Given the description of an element on the screen output the (x, y) to click on. 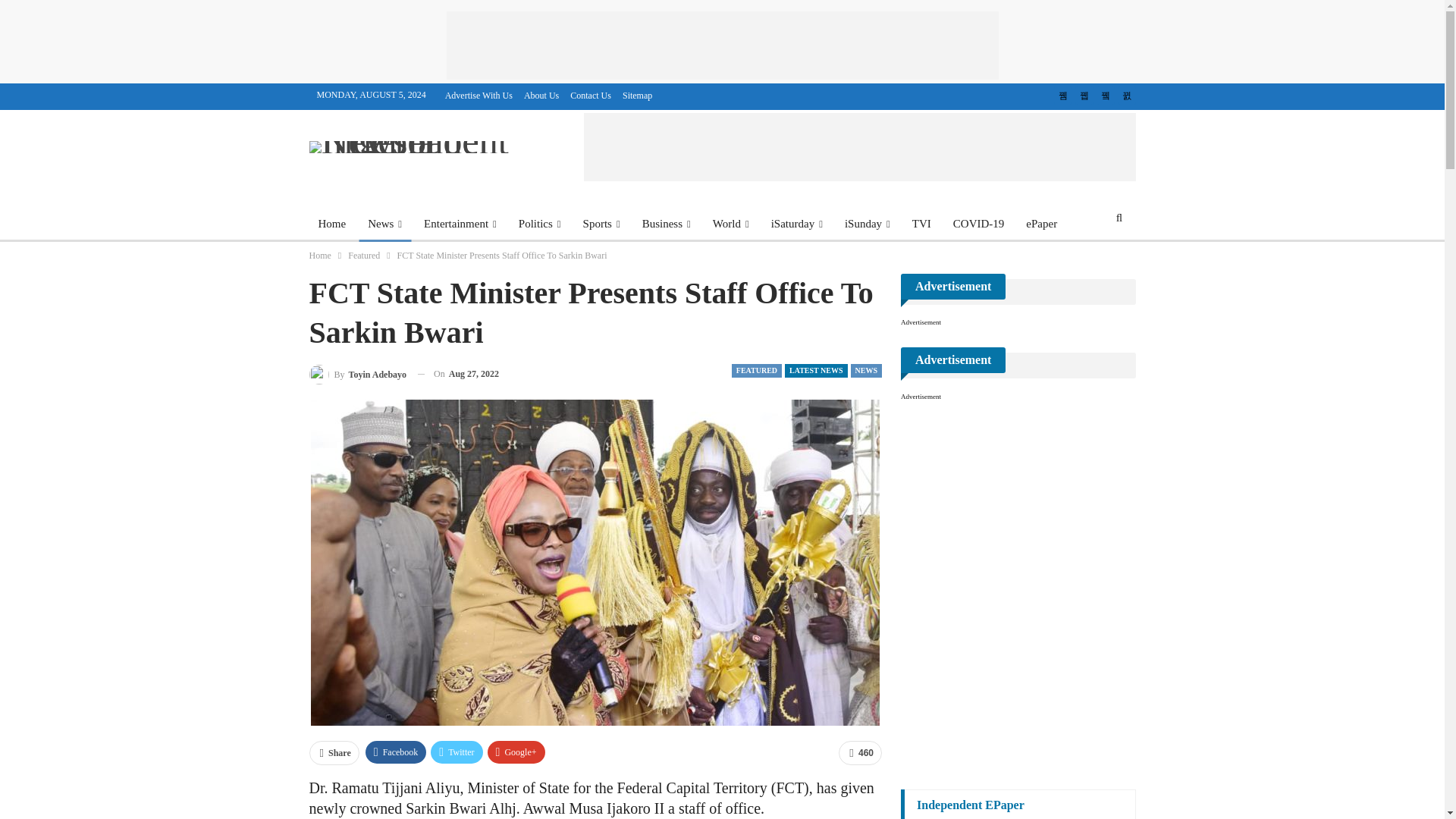
Advertise With Us (478, 95)
About Us (541, 95)
Advertisement (859, 146)
Advertisement (721, 45)
Entertainment (459, 223)
Sitemap (637, 95)
Contact Us (590, 95)
Home (331, 223)
Politics (539, 223)
News (384, 223)
